Given the description of an element on the screen output the (x, y) to click on. 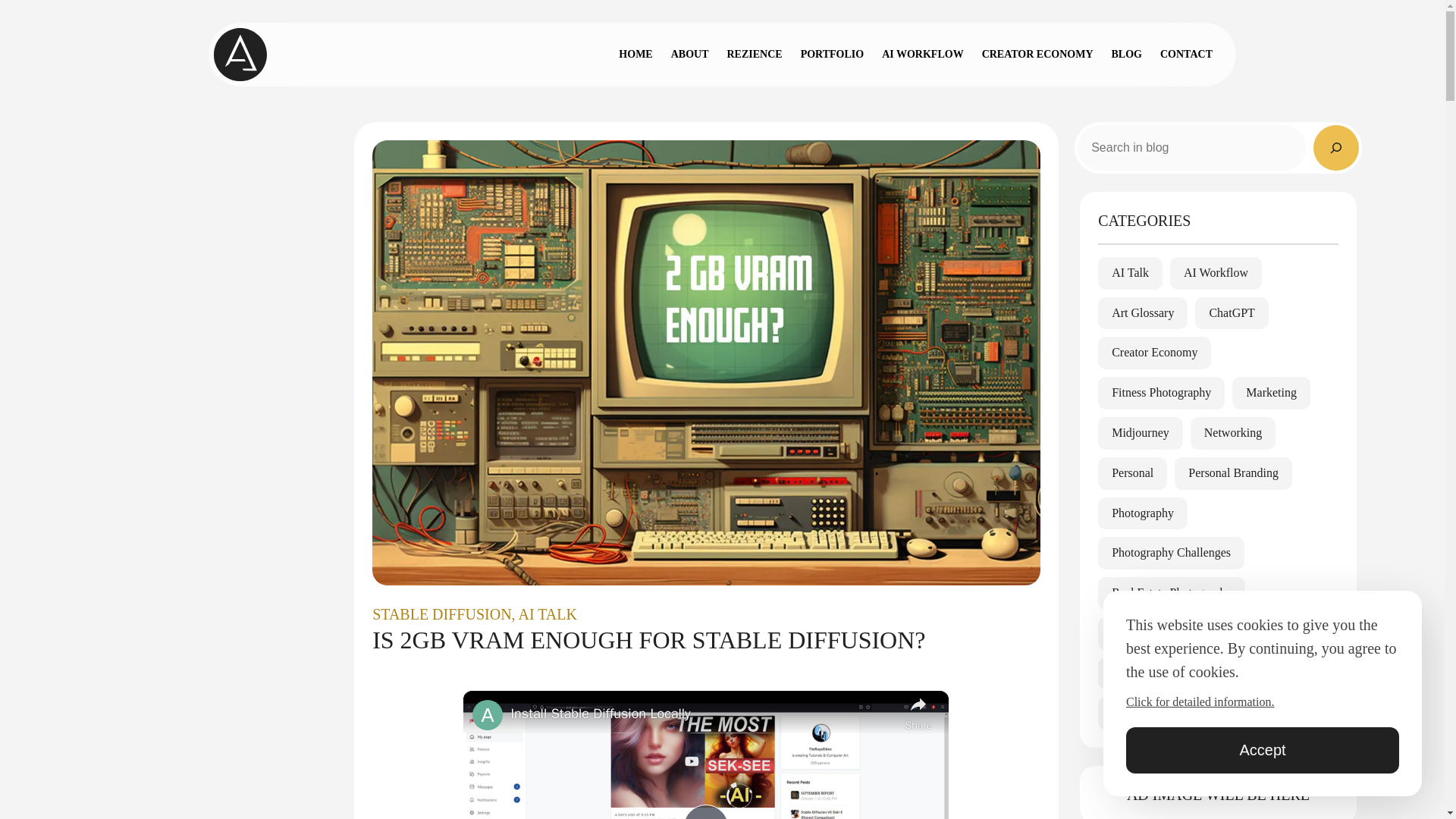
HOME (635, 54)
Play Video (705, 811)
Play Video (705, 811)
CREATOR ECONOMY (1037, 54)
Install Stable Diffusion Locally (703, 713)
STABLE DIFFUSION (441, 614)
PORTFOLIO (832, 54)
BLOG (1126, 54)
AI WORKFLOW (922, 54)
ABOUT (690, 54)
REZIENCE (753, 54)
CONTACT (1186, 54)
AI TALK (547, 614)
